Given the description of an element on the screen output the (x, y) to click on. 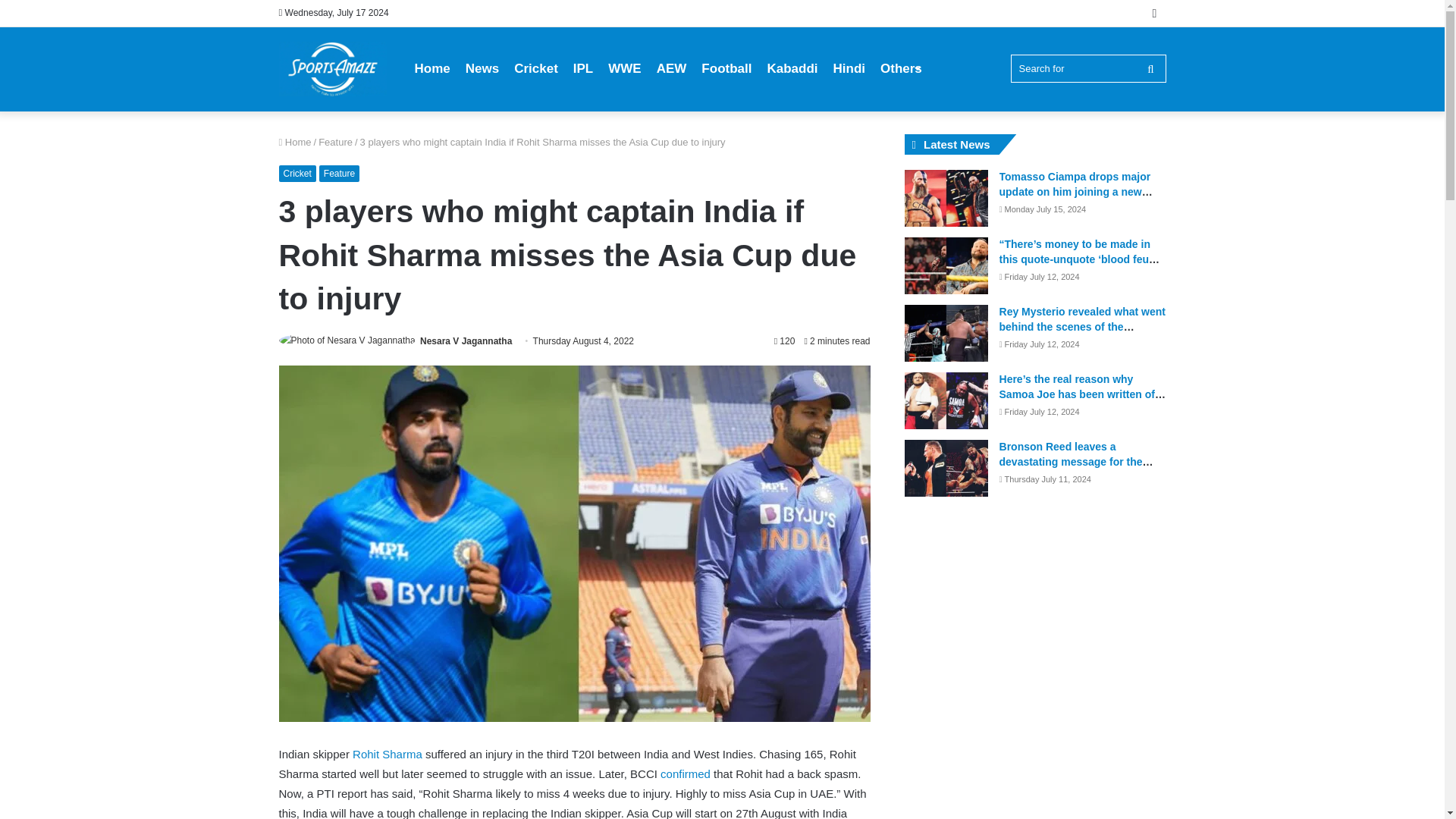
Rohit Sharma (387, 753)
Search for (1088, 68)
Home (295, 142)
Feature (335, 142)
confirmed (685, 773)
Nesara V Jagannatha (466, 340)
Cricket (297, 173)
Feature (338, 173)
Nesara V Jagannatha (466, 340)
Sports Amaze (333, 68)
